Given the description of an element on the screen output the (x, y) to click on. 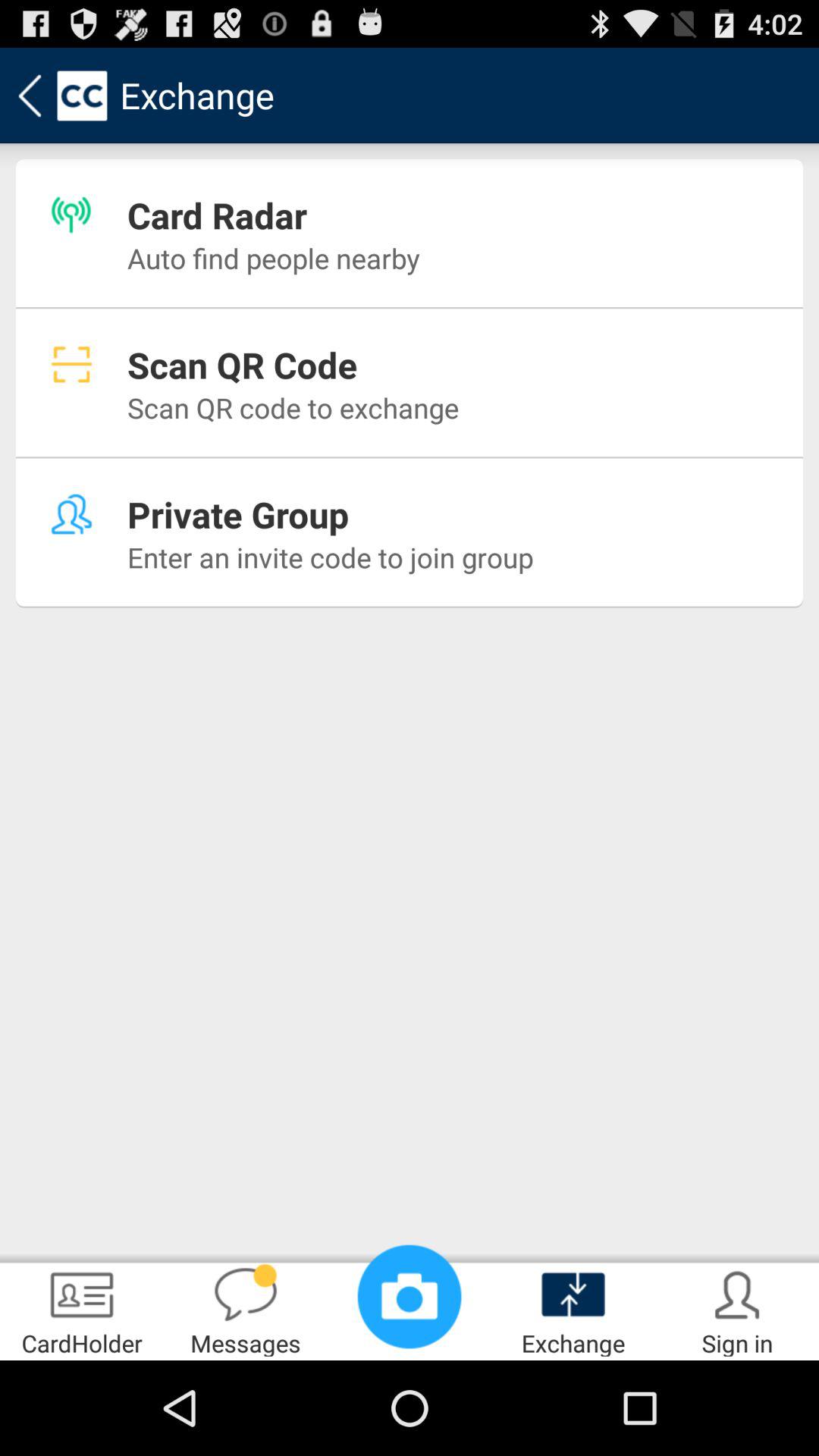
launch icon to the left of exchange item (409, 1296)
